Given the description of an element on the screen output the (x, y) to click on. 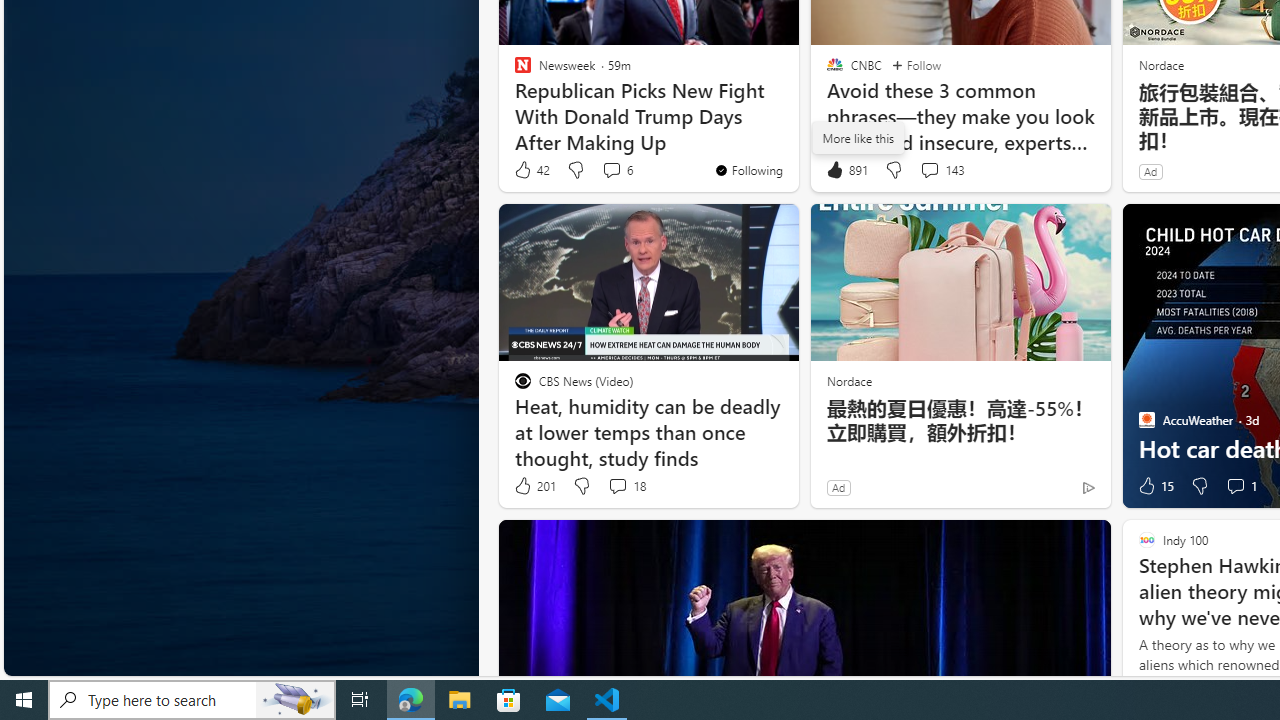
891 Like (845, 170)
15 Like (1154, 485)
View comments 18 Comment (617, 485)
You're following Newsweek (747, 169)
View comments 6 Comment (616, 170)
View comments 18 Comment (626, 485)
View comments 143 Comment (941, 170)
View comments 143 Comment (929, 169)
201 Like (534, 485)
